Given the description of an element on the screen output the (x, y) to click on. 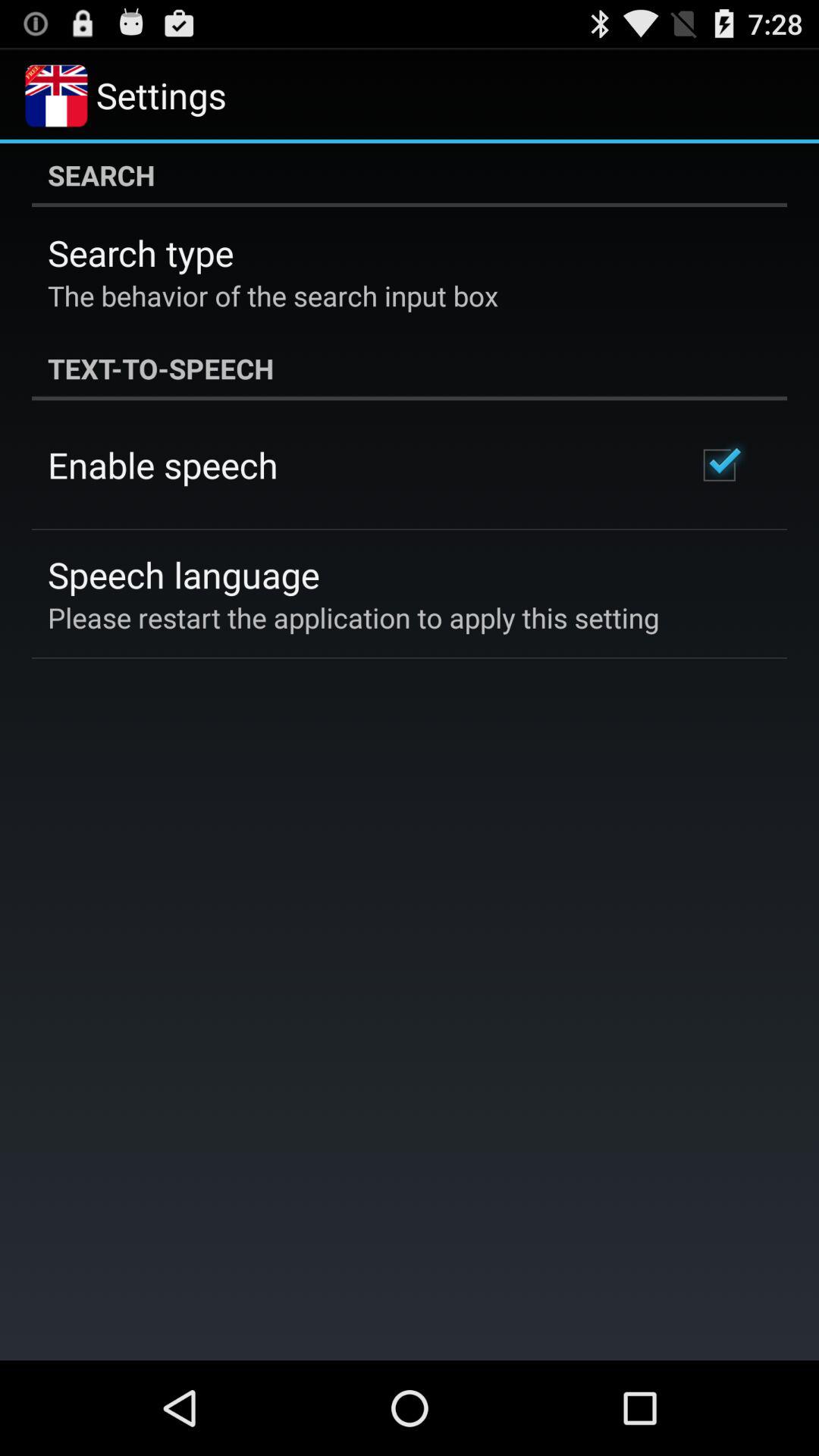
click the icon below text-to-speech item (162, 464)
